Given the description of an element on the screen output the (x, y) to click on. 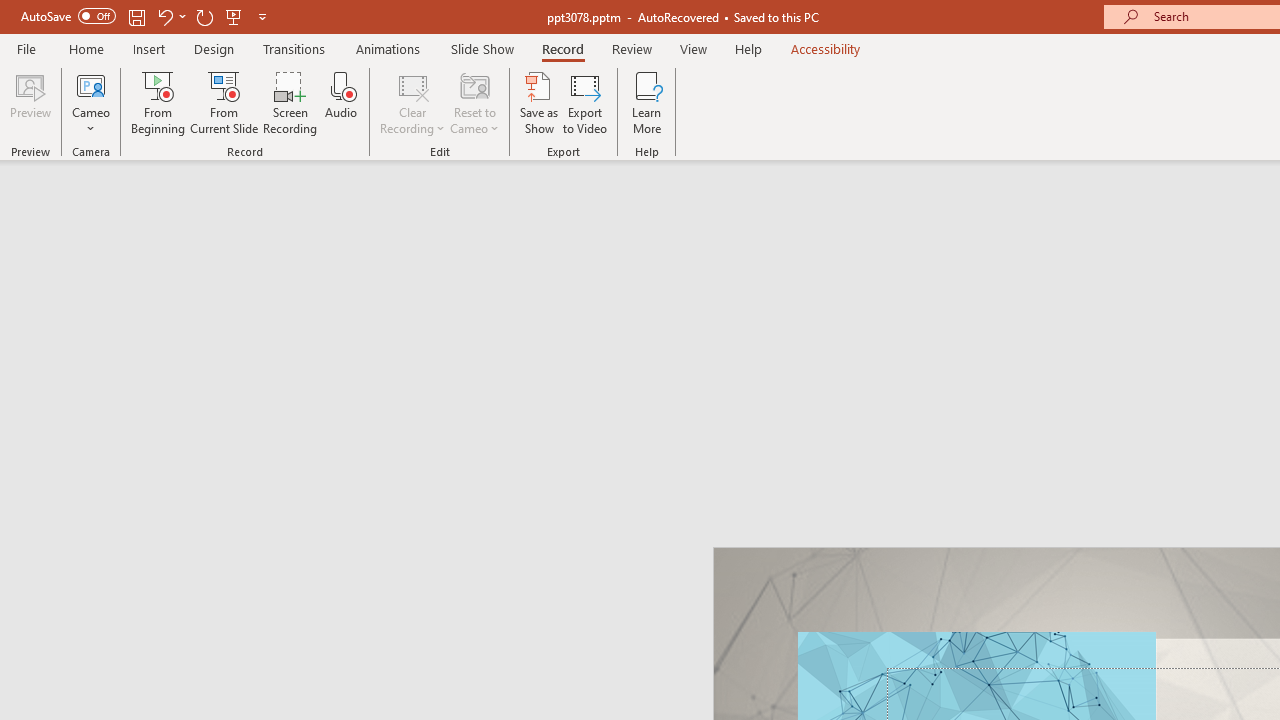
Save as Show (539, 102)
From Beginning... (158, 102)
Learn More (646, 102)
Clear Recording (412, 102)
